Given the description of an element on the screen output the (x, y) to click on. 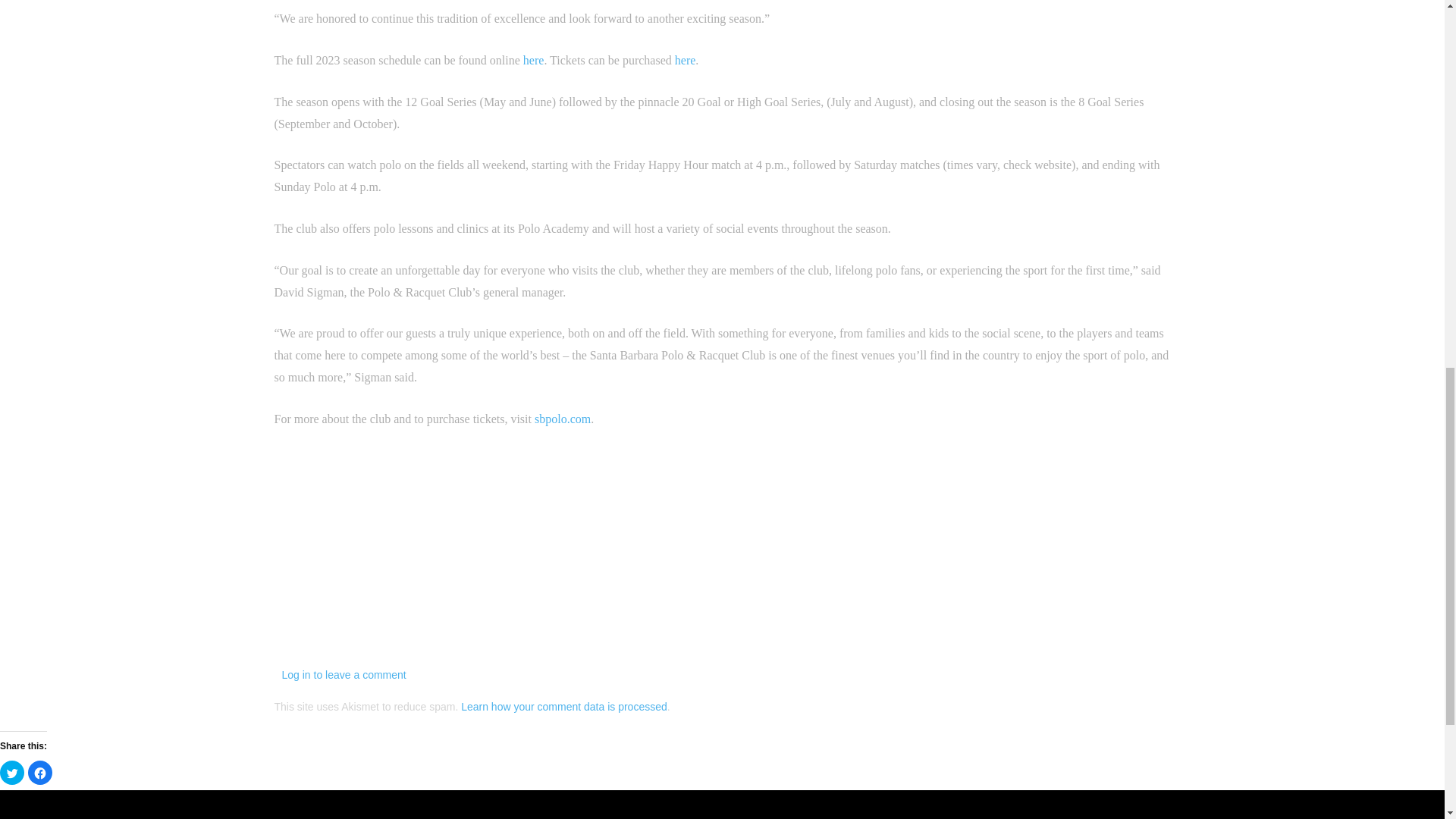
Click to share on Twitter (12, 772)
Click to share on Facebook (39, 772)
